Given the description of an element on the screen output the (x, y) to click on. 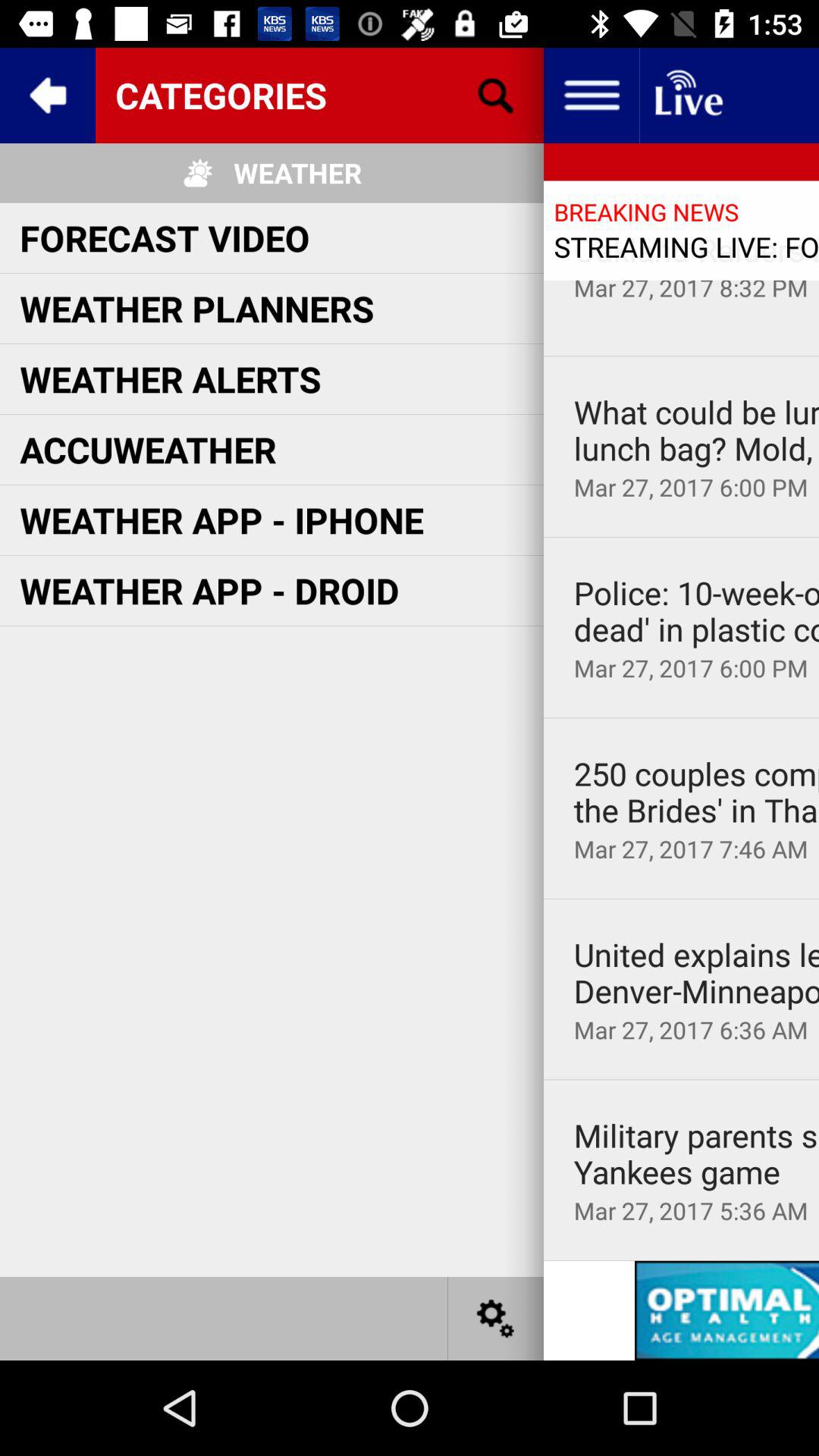
choose the oakland raiders moving (696, 249)
